Given the description of an element on the screen output the (x, y) to click on. 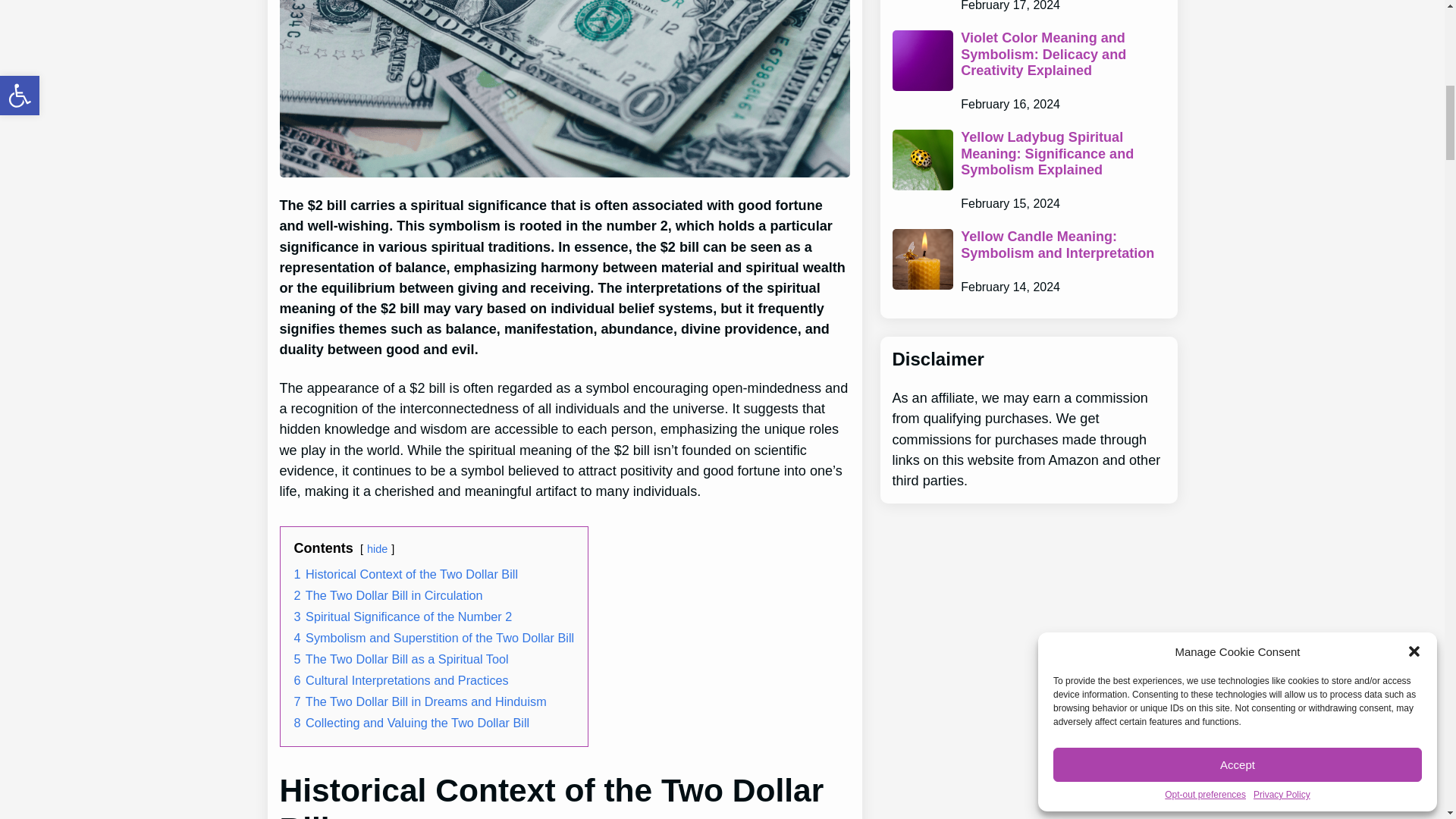
1 Historical Context of the Two Dollar Bill (406, 573)
2 The Two Dollar Bill in Circulation (388, 594)
8 Collecting and Valuing the Two Dollar Bill (411, 722)
3 Spiritual Significance of the Number 2 (403, 616)
6 Cultural Interpretations and Practices (401, 680)
7 The Two Dollar Bill in Dreams and Hinduism (420, 701)
5 The Two Dollar Bill as a Spiritual Tool (401, 658)
4 Symbolism and Superstition of the Two Dollar Bill (434, 637)
hide (376, 548)
